Given the description of an element on the screen output the (x, y) to click on. 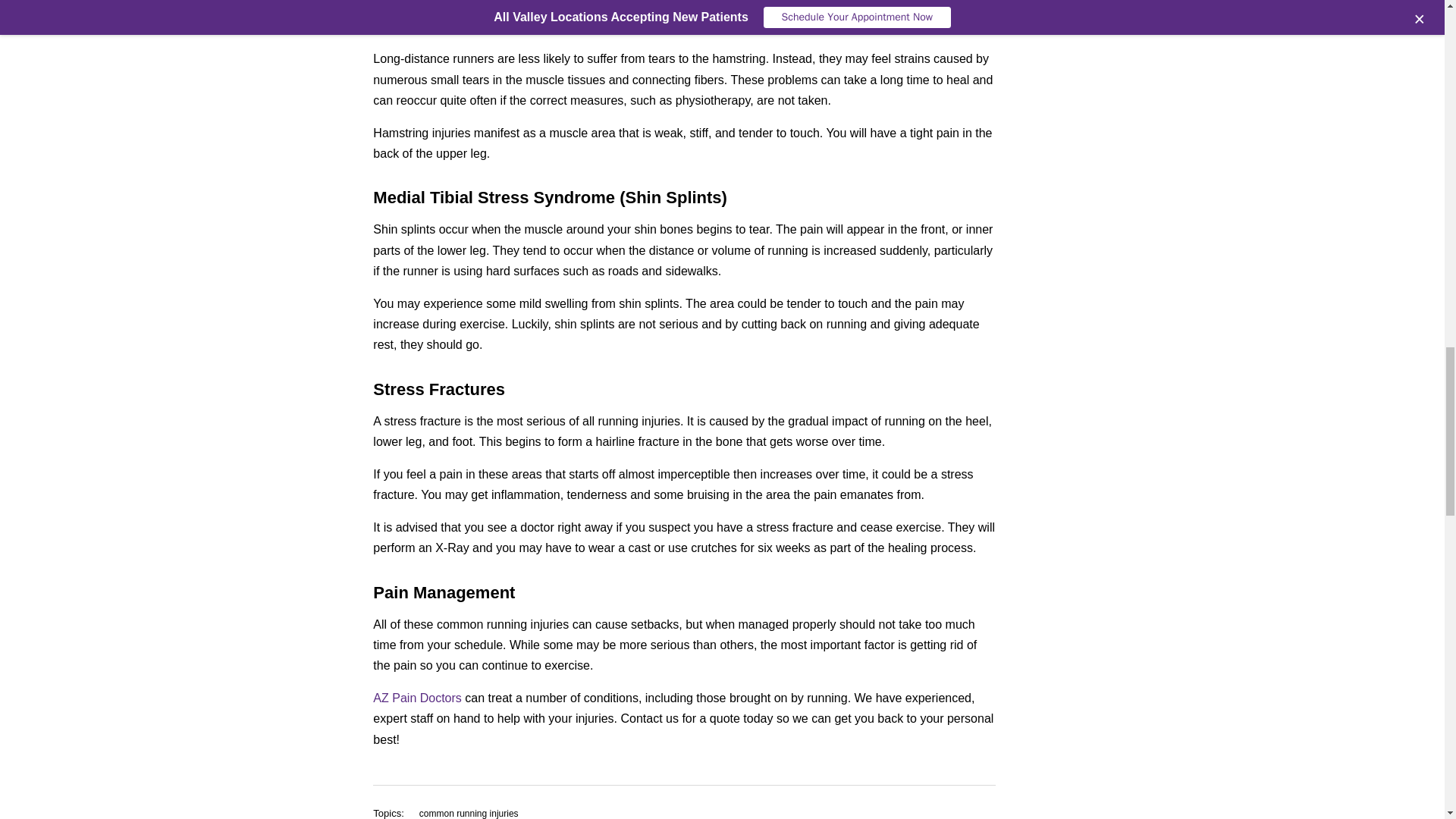
AZ Pain Doctors  (418, 697)
common running injuries (468, 811)
Warming up the hamstring (676, 6)
